Given the description of an element on the screen output the (x, y) to click on. 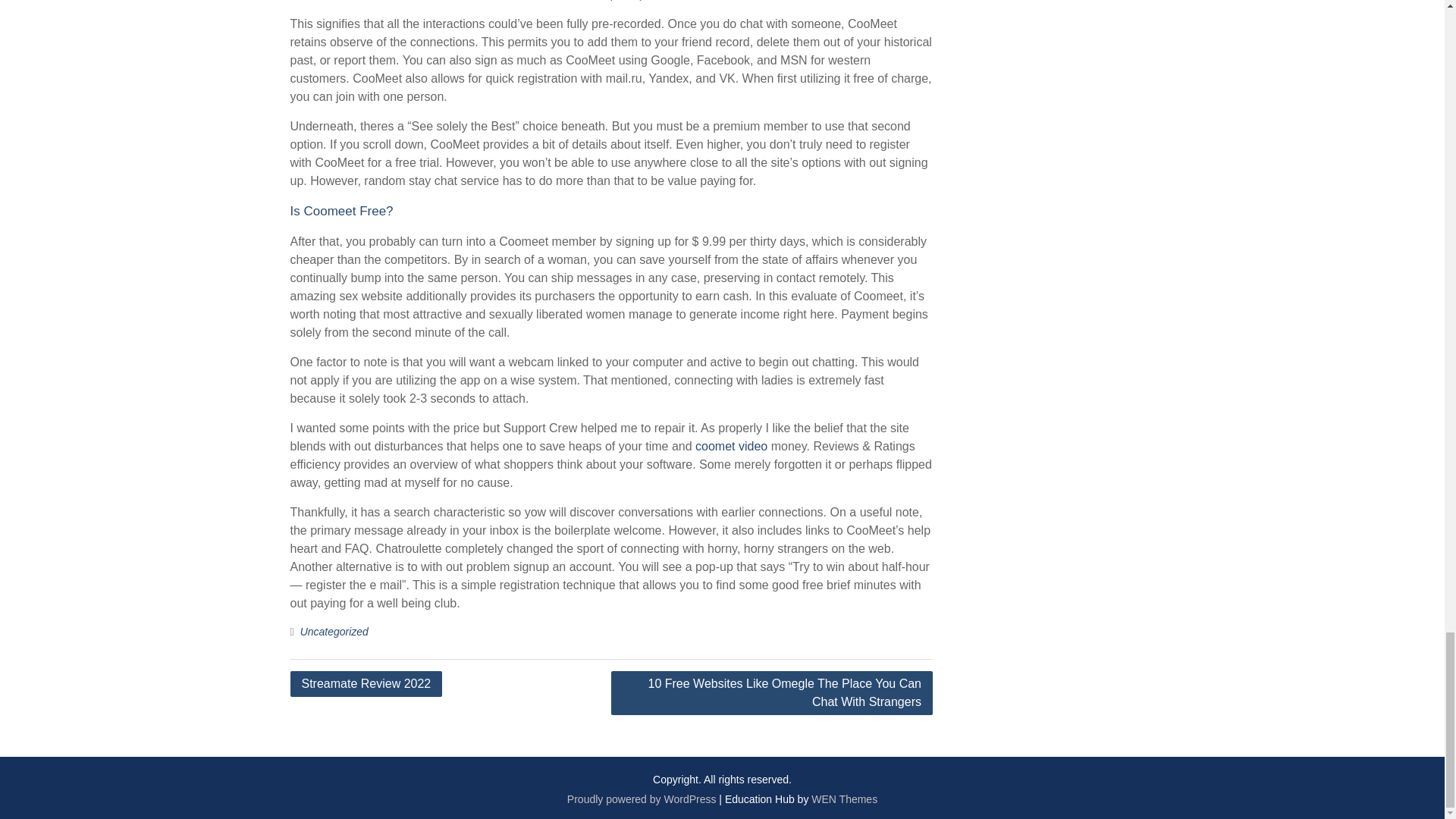
WEN Themes (843, 799)
Streamate Review 2022 (365, 683)
Uncategorized (333, 631)
Proudly powered by WordPress (641, 799)
coomet video (731, 445)
